Given the description of an element on the screen output the (x, y) to click on. 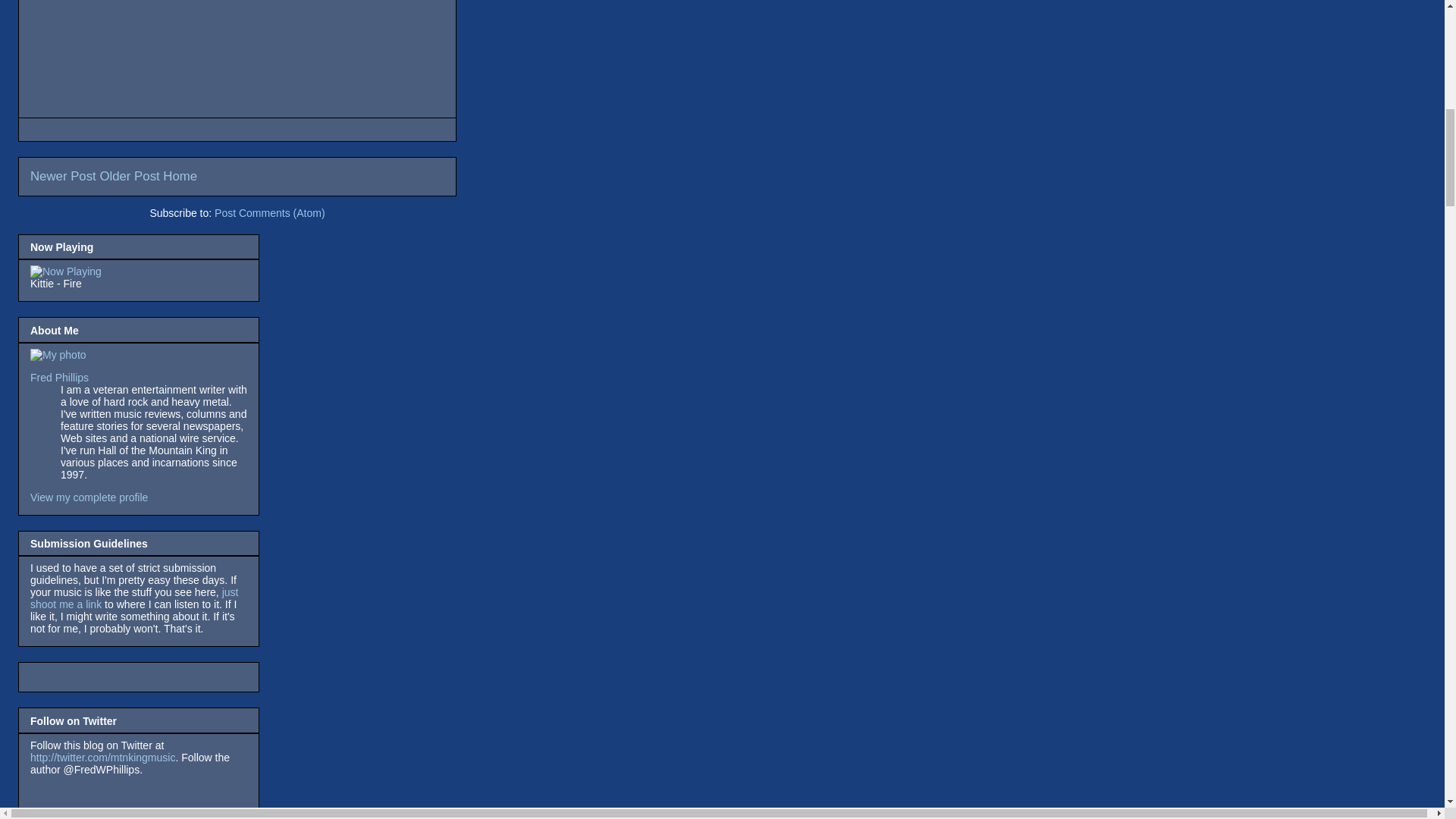
Older Post (128, 175)
Older Post (128, 175)
Fred Phillips (59, 377)
Newer Post (63, 175)
View my complete profile (89, 497)
Newer Post (63, 175)
just shoot me a link (134, 598)
Home (179, 175)
